Given the description of an element on the screen output the (x, y) to click on. 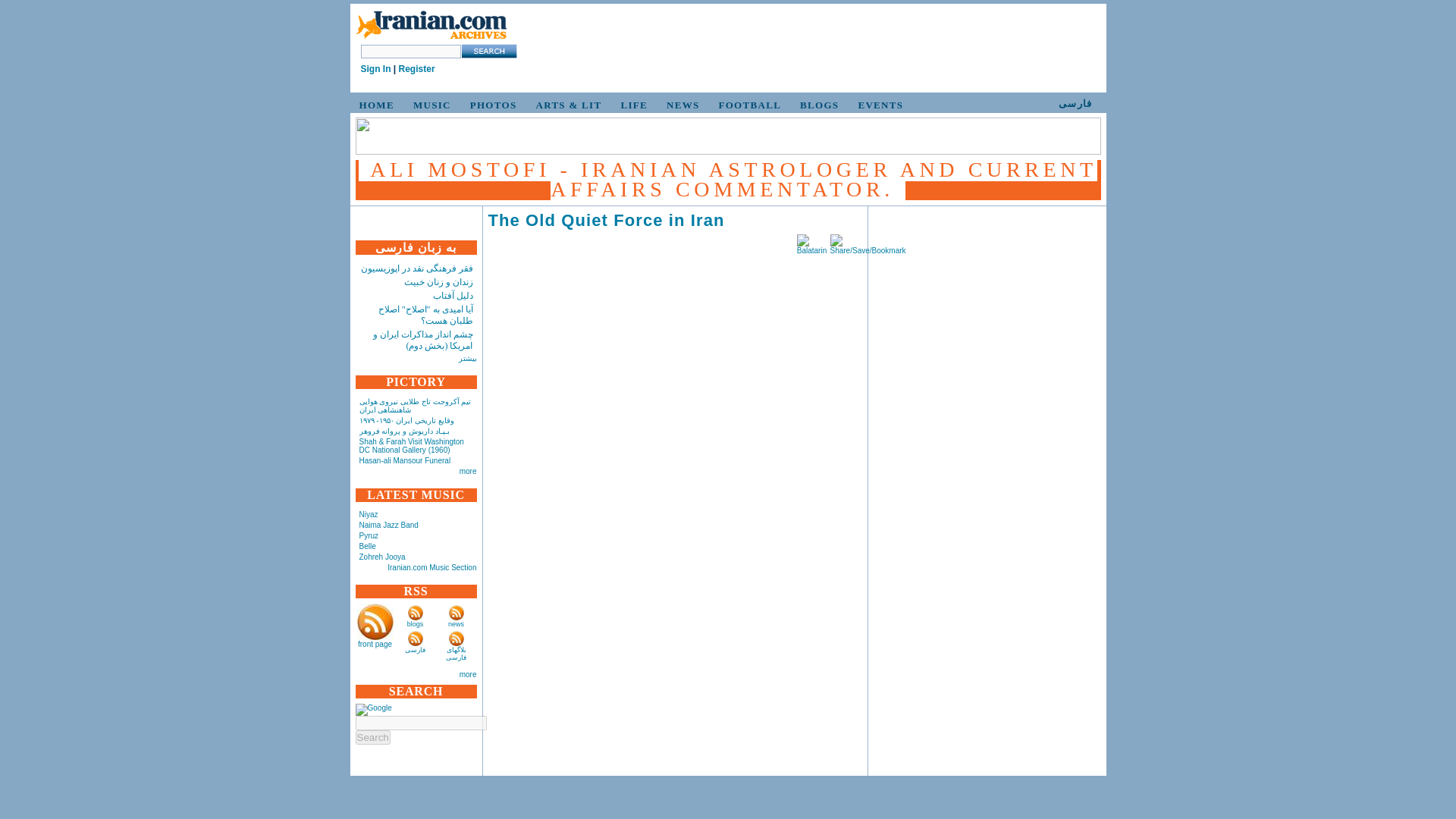
Pyruz (368, 535)
Home (430, 25)
PHOTOS (491, 105)
Zohreh Jooya (382, 556)
MUSIC (429, 105)
front page (374, 643)
Belle (367, 546)
HOME (374, 105)
Iranian.com Music Section (431, 567)
Home (430, 40)
Search (372, 737)
blogs (415, 623)
BLOGS (816, 105)
EVENTS (877, 105)
Sign In (376, 68)
